Given the description of an element on the screen output the (x, y) to click on. 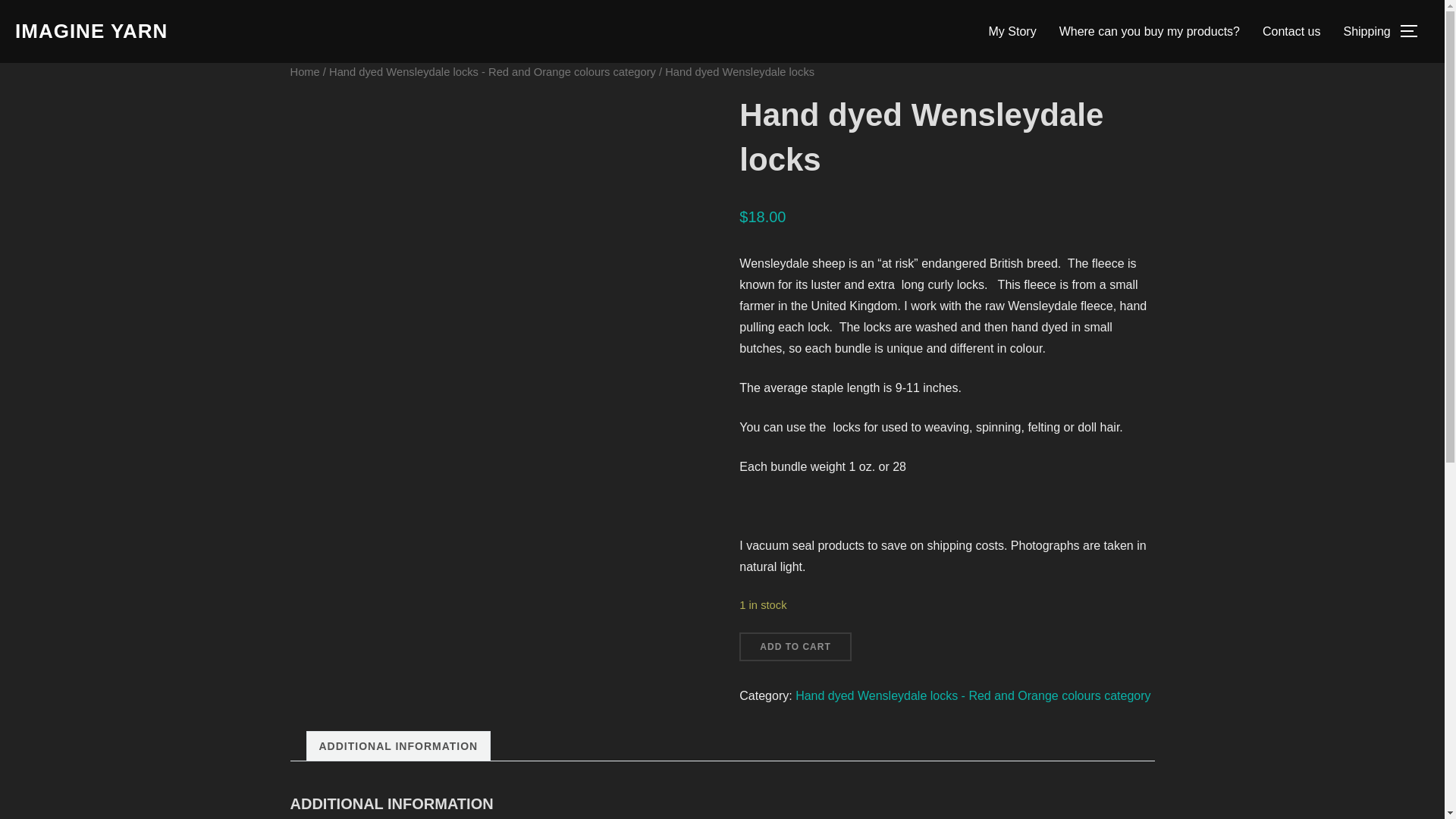
Home (303, 71)
IMAGINE YARN (90, 31)
My Story (1012, 30)
Contact us (1291, 30)
ADDITIONAL INFORMATION (397, 746)
Where can you buy my products? (1149, 30)
ADD TO CART (794, 646)
Shipping (1366, 30)
